Given the description of an element on the screen output the (x, y) to click on. 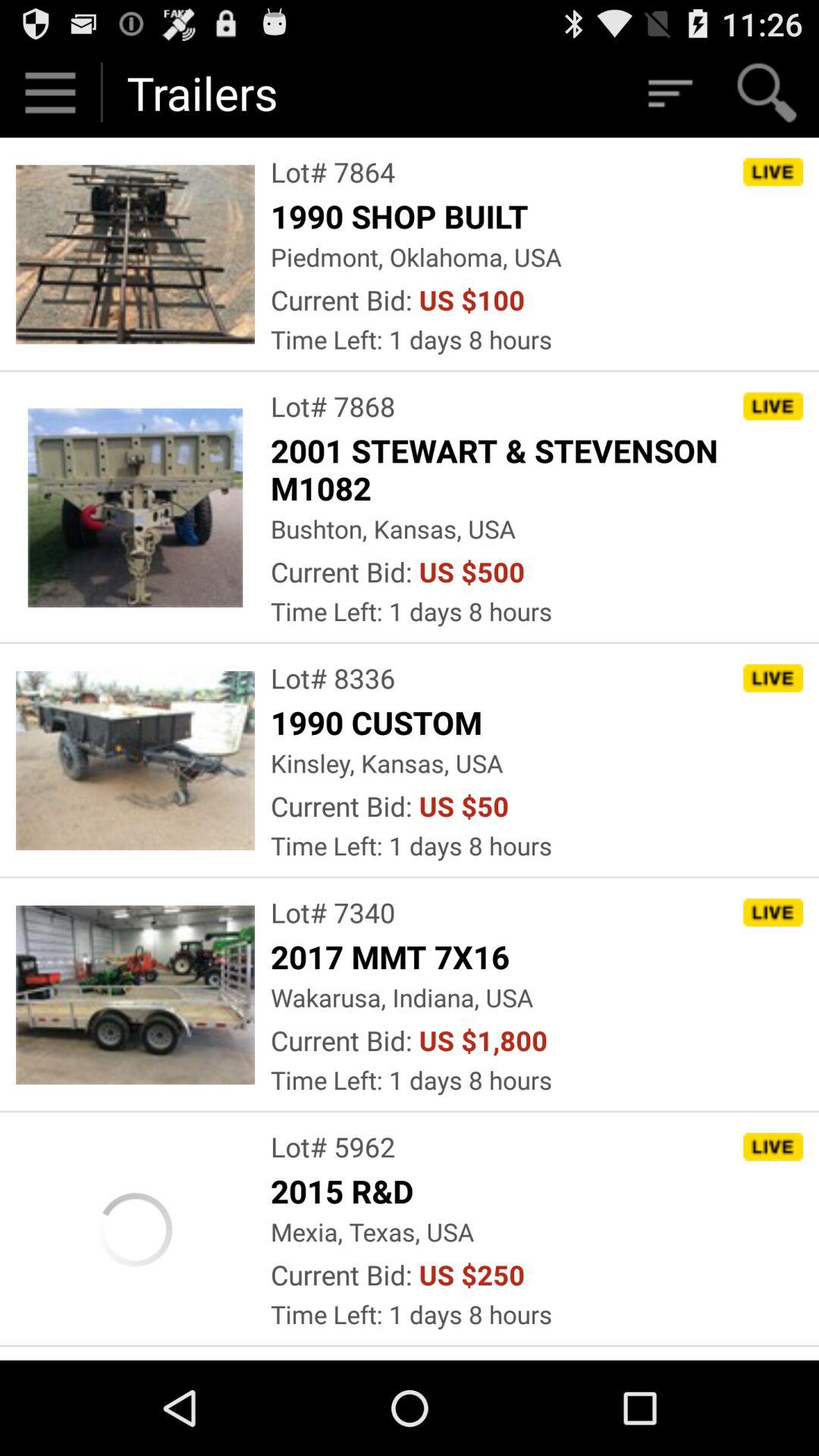
option list (668, 92)
